Given the description of an element on the screen output the (x, y) to click on. 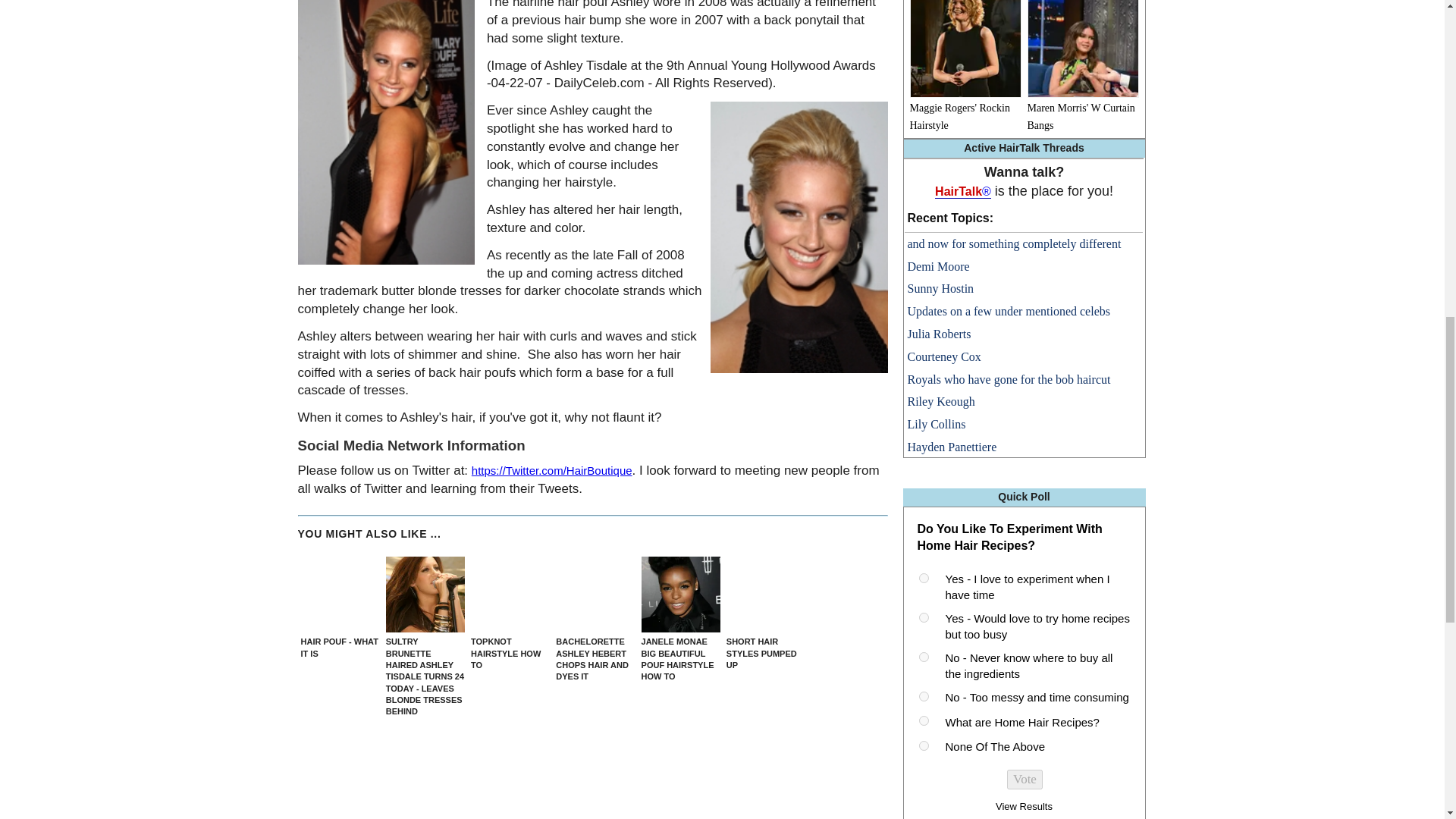
Demi Moore (938, 266)
on (923, 746)
on (923, 617)
on (923, 656)
Vote (1024, 779)
on (923, 720)
and now for something completely different (1014, 243)
on (923, 578)
on (923, 696)
Sunny Hostin (940, 287)
